Given the description of an element on the screen output the (x, y) to click on. 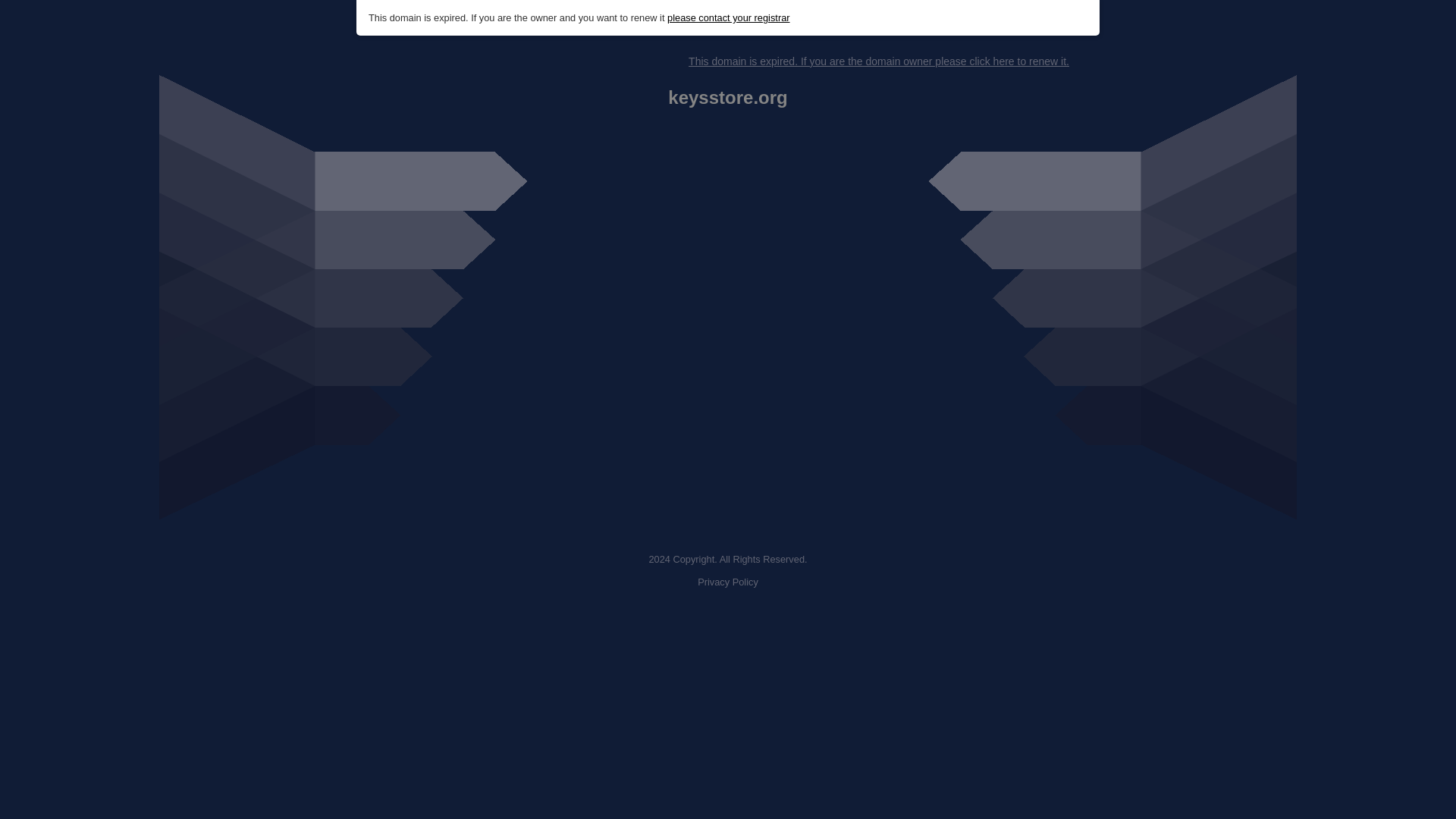
Privacy Policy (727, 582)
please contact your registrar (727, 17)
